Given the description of an element on the screen output the (x, y) to click on. 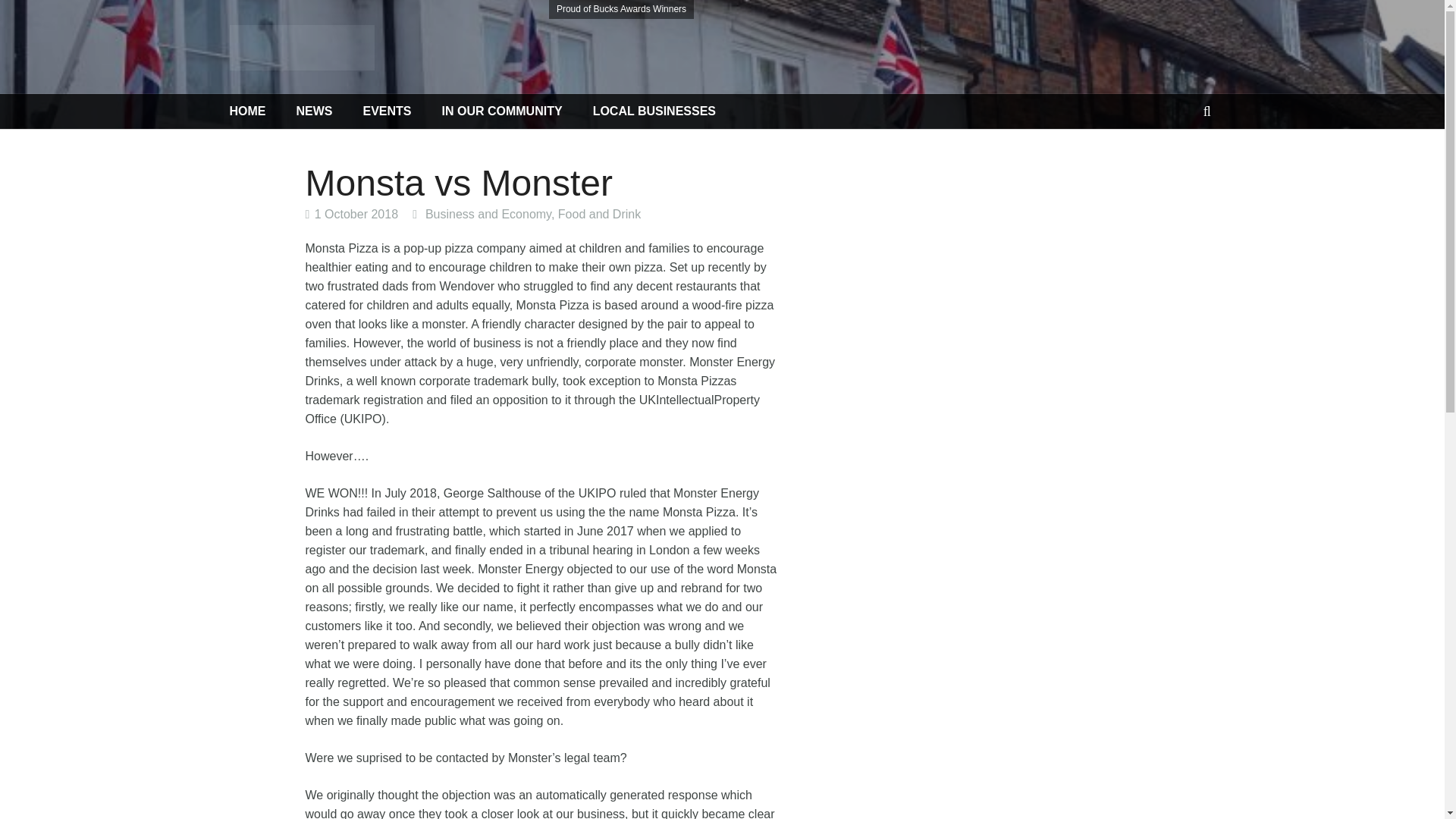
NEWS (314, 111)
Food and Drink (598, 214)
LOCAL BUSINESSES (654, 111)
Business and Economy (488, 214)
EVENTS (386, 111)
IN OUR COMMUNITY (502, 111)
HOME (254, 111)
